Given the description of an element on the screen output the (x, y) to click on. 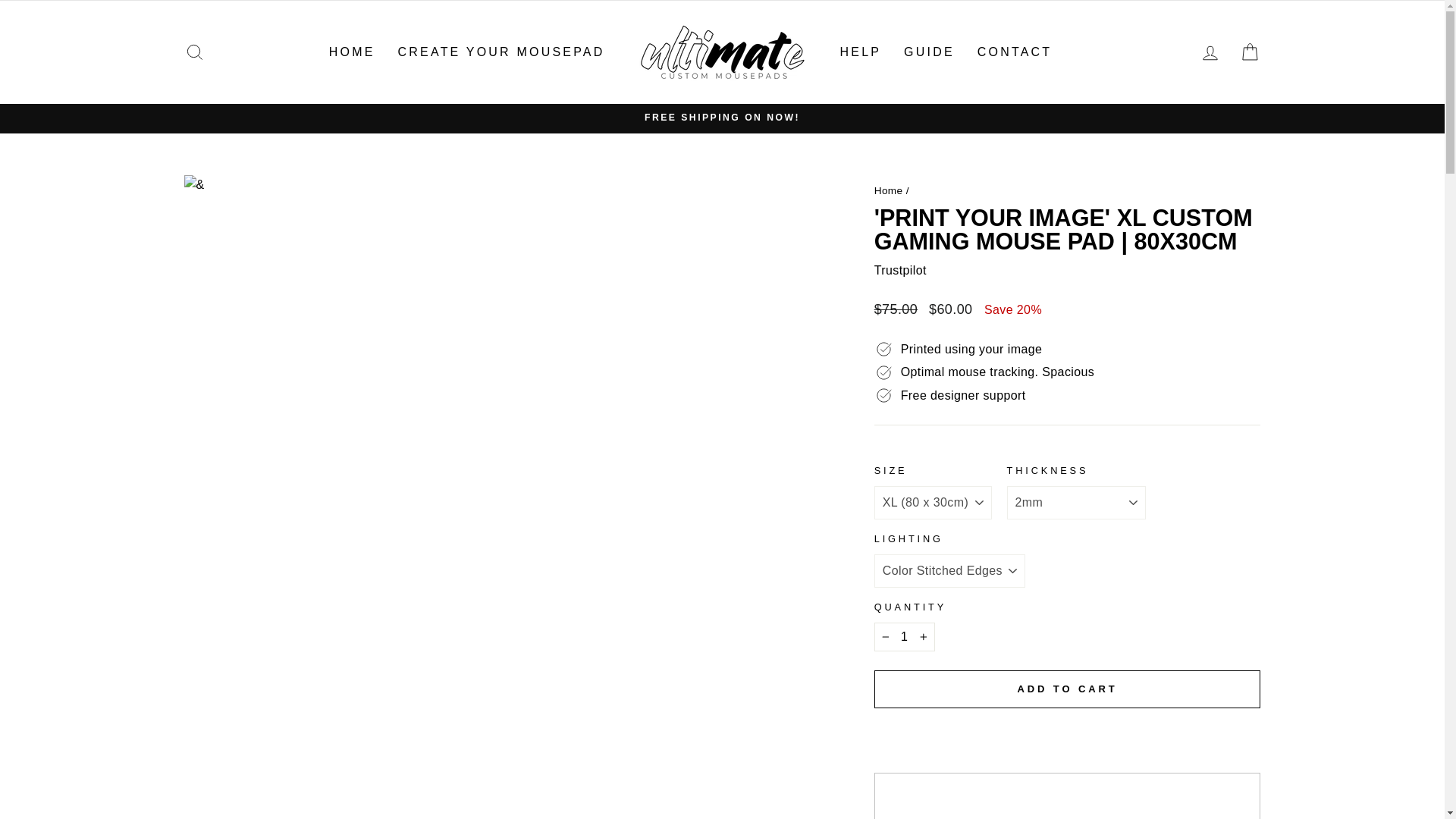
1 (904, 636)
Back to the frontpage (888, 190)
CREATE YOUR MOUSEPAD (501, 51)
HELP (860, 51)
HOME (352, 51)
SEARCH (194, 51)
